Given the description of an element on the screen output the (x, y) to click on. 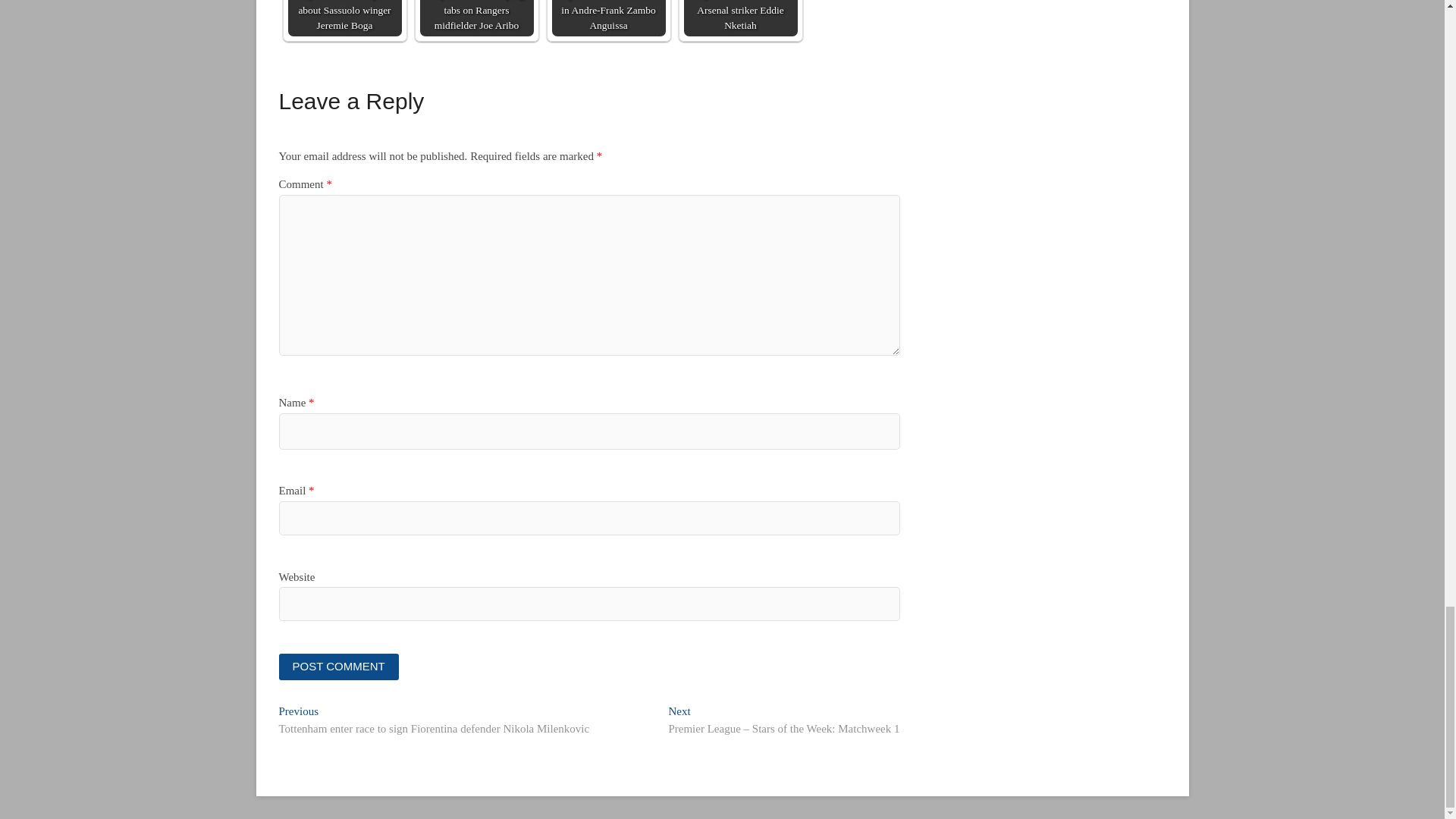
Crystal Palace keen on Arsenal striker Eddie Nketiah (740, 18)
Crystal Palace enquire about Sassuolo winger Jeremie Boga (344, 18)
Post Comment (338, 666)
Crystal Palace keeping tabs on Rangers midfielder Joe Aribo (477, 18)
Crystal Palace interested in Andre-Frank Zambo Anguissa (608, 18)
